Given the description of an element on the screen output the (x, y) to click on. 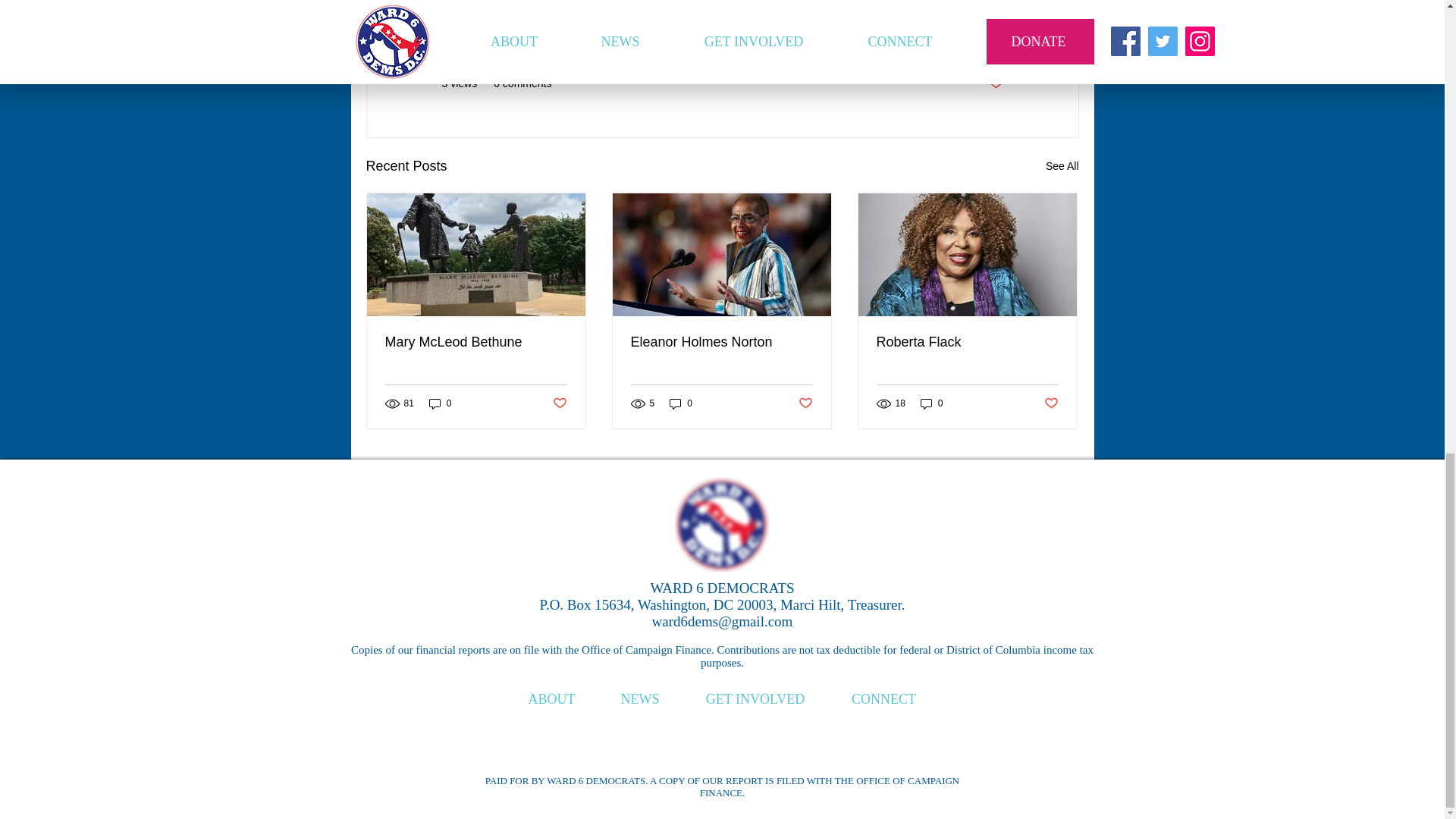
Women of Ward 6 (960, 38)
Post not marked as liked (995, 83)
0 (681, 403)
Eleanor Holmes Norton (721, 342)
See All (1061, 166)
Mary McLeod Bethune (476, 342)
Post not marked as liked (804, 402)
0 (440, 403)
Post not marked as liked (558, 402)
